Given the description of an element on the screen output the (x, y) to click on. 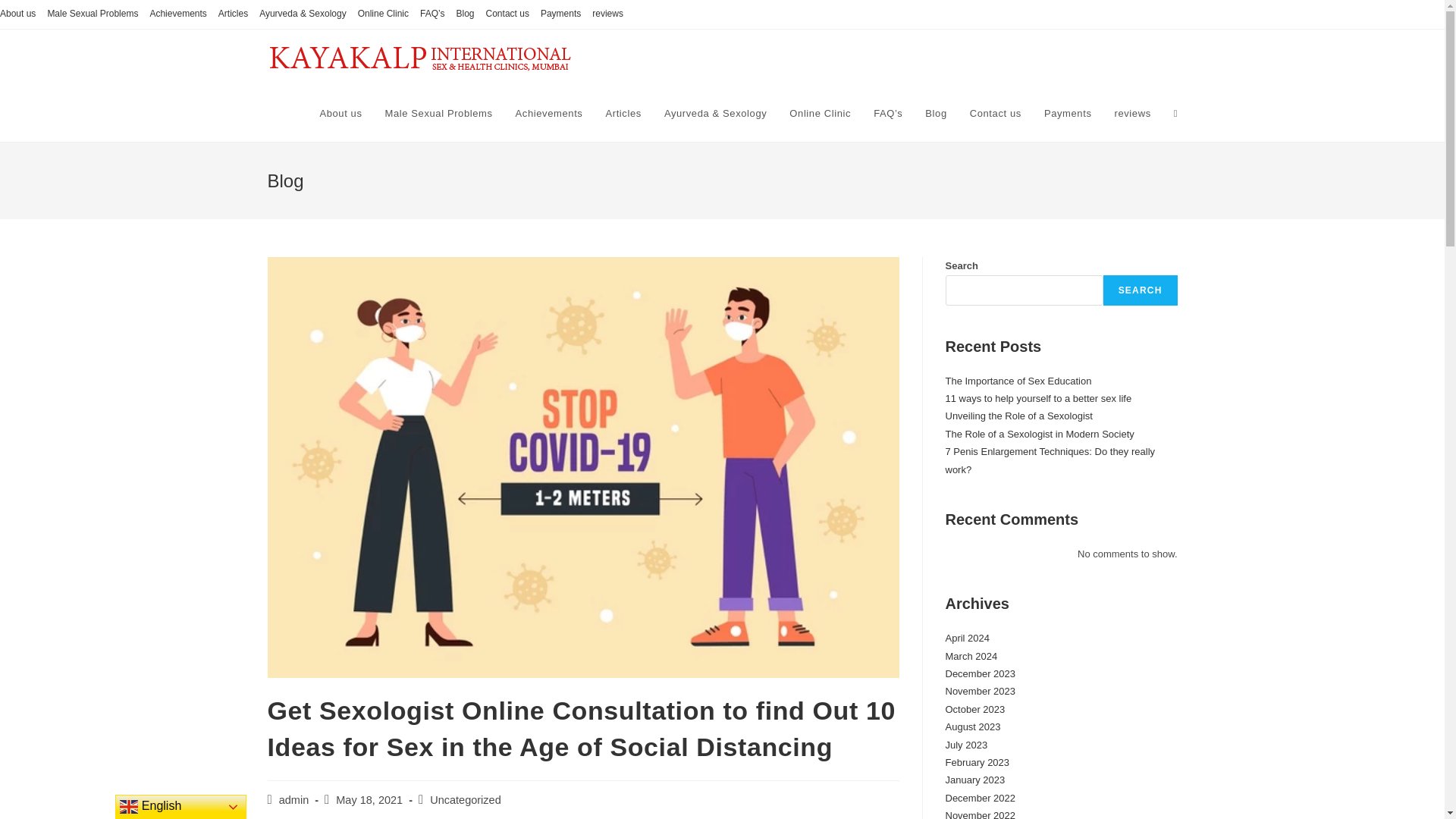
Achievements (177, 13)
Male Sexual Problems (438, 113)
Articles (232, 13)
Male Sexual Problems (92, 13)
reviews (1131, 113)
Contact us (995, 113)
About us (339, 113)
Online Clinic (383, 13)
About us (17, 13)
Achievements (548, 113)
